Given the description of an element on the screen output the (x, y) to click on. 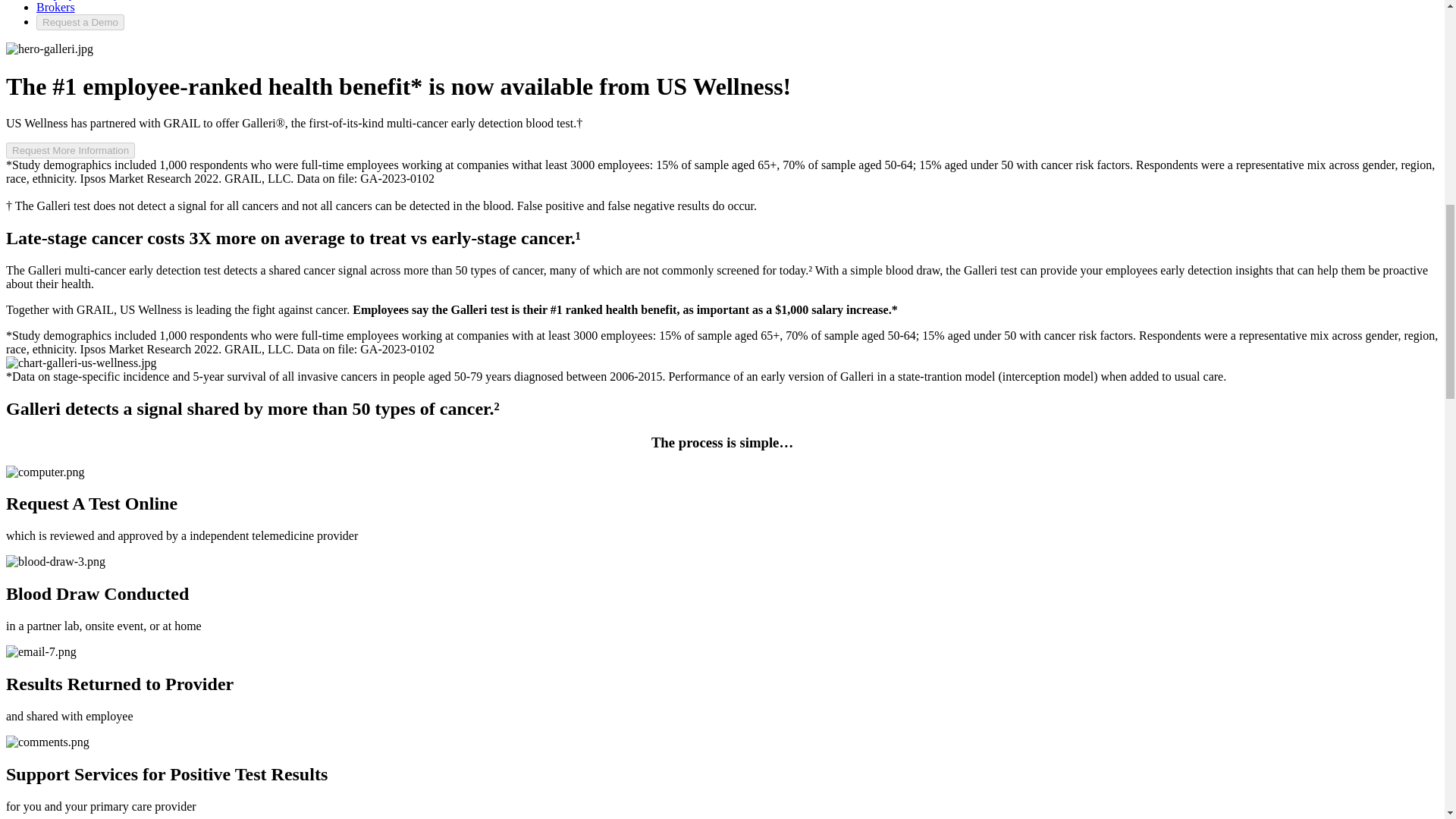
hero-galleri.jpg (49, 49)
computer.png (44, 472)
blood-draw-3.png (54, 561)
Request a Demo (79, 22)
email-7.png (41, 652)
Brokers (55, 6)
chart-galleri-us-wellness.jpg (81, 363)
comments.png (46, 742)
Request a Demo (79, 22)
Request More Information (70, 150)
